Given the description of an element on the screen output the (x, y) to click on. 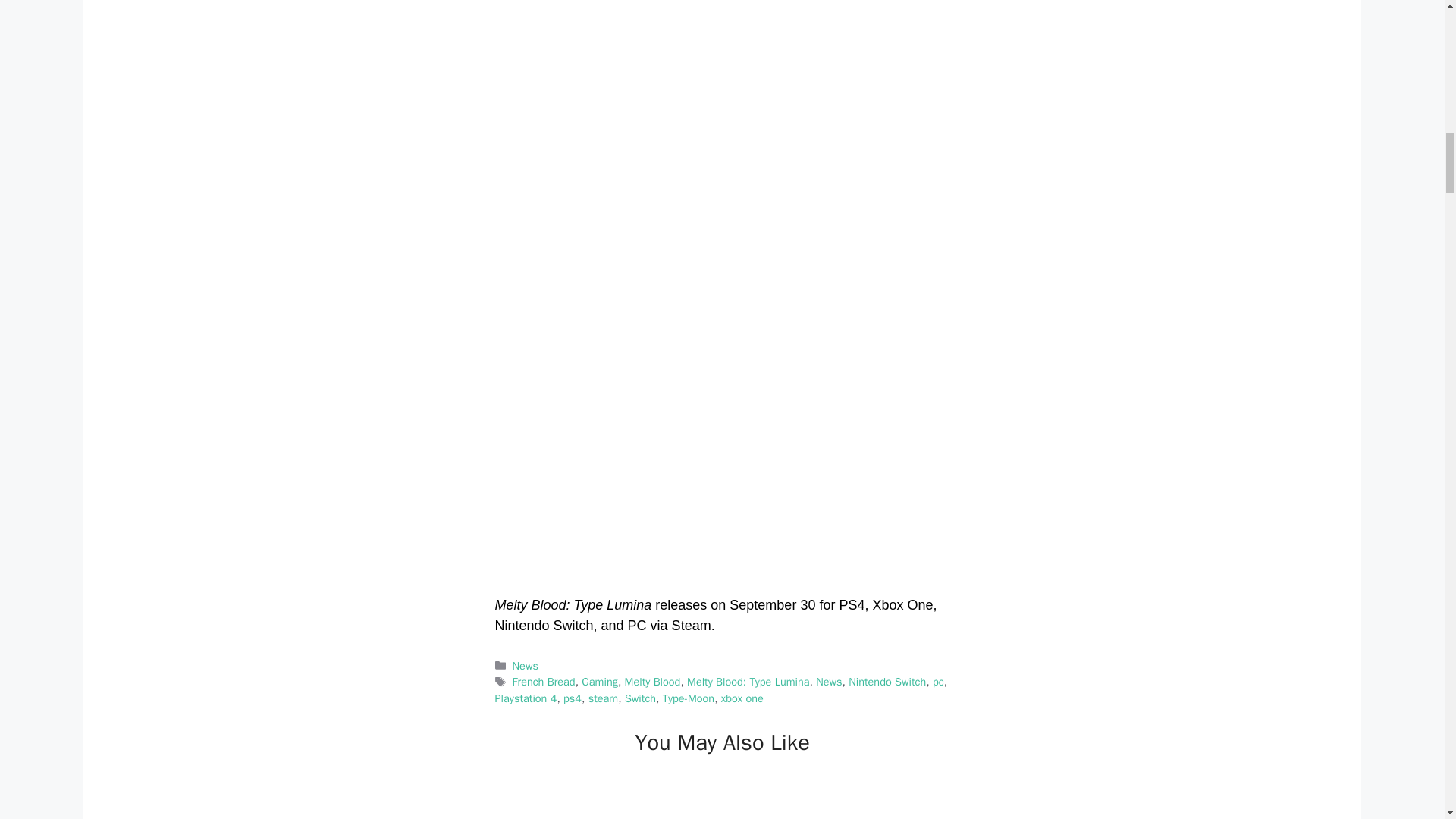
News (525, 665)
Nintendo Switch (887, 681)
xbox one (741, 698)
steam (603, 698)
Playstation 4 (525, 698)
Melty Blood (652, 681)
News (828, 681)
Type-Moon (688, 698)
Switch (640, 698)
Melty Blood: Type Lumina (748, 681)
